Given the description of an element on the screen output the (x, y) to click on. 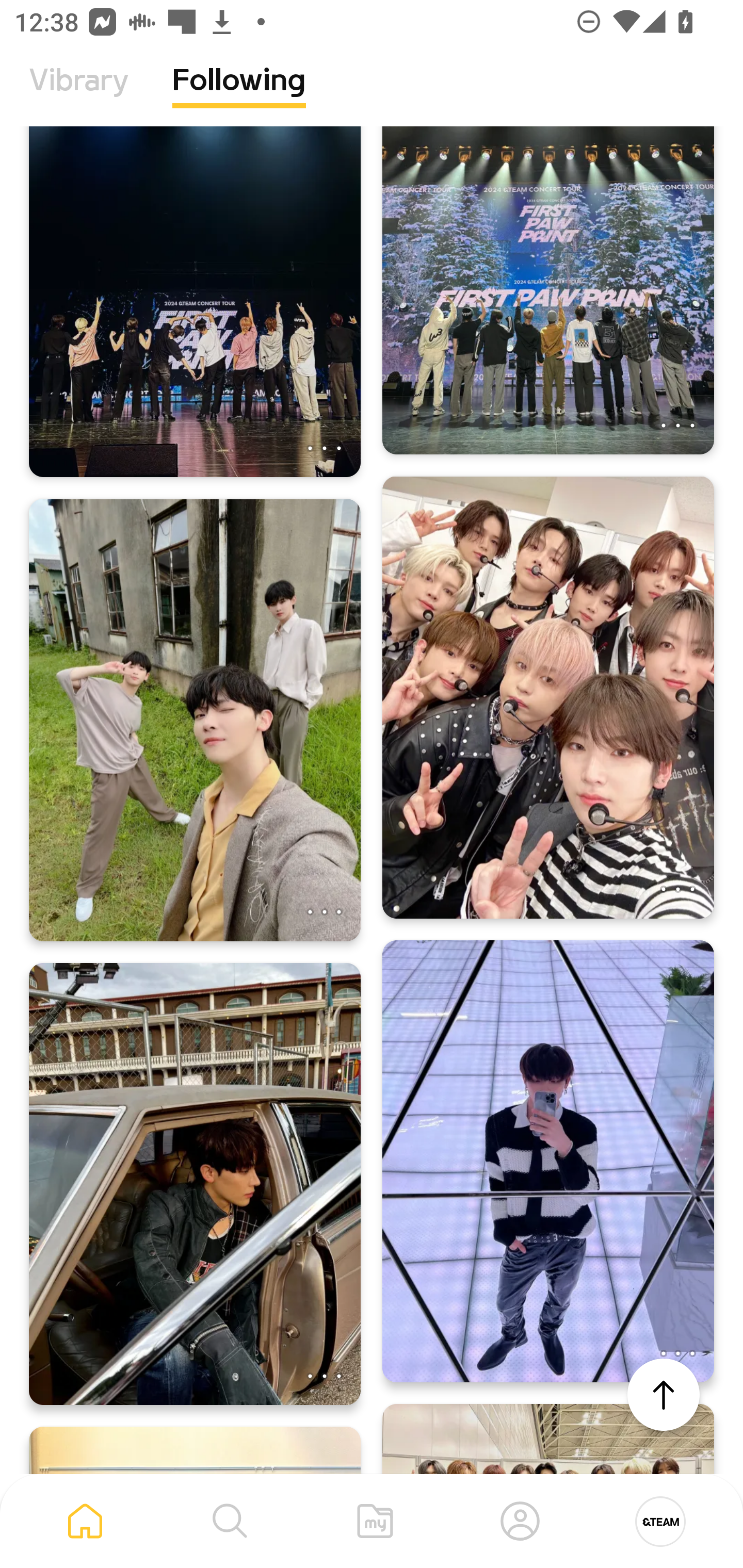
Vibrary (78, 95)
Following (239, 95)
